Given the description of an element on the screen output the (x, y) to click on. 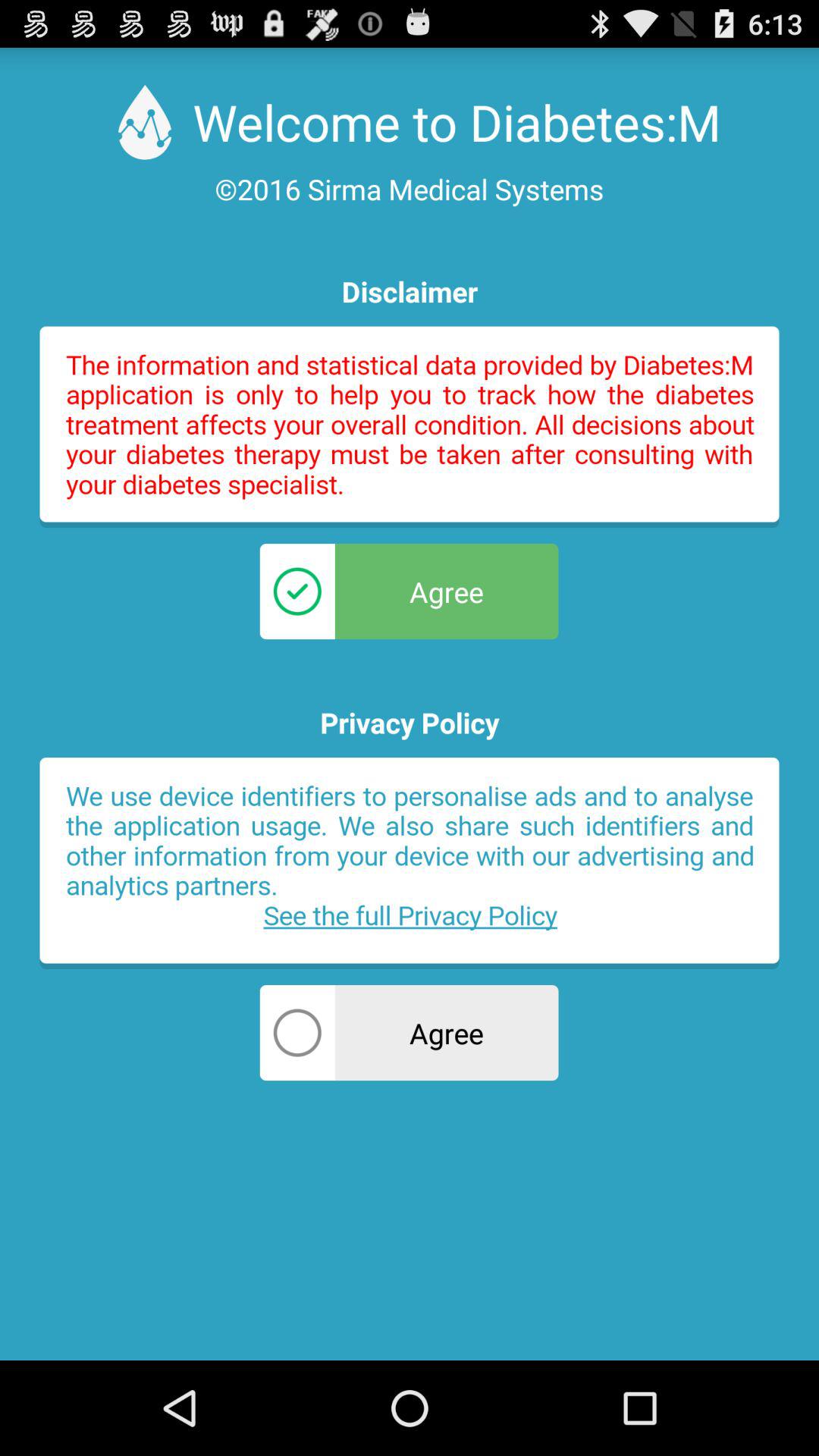
select the article (409, 862)
